Given the description of an element on the screen output the (x, y) to click on. 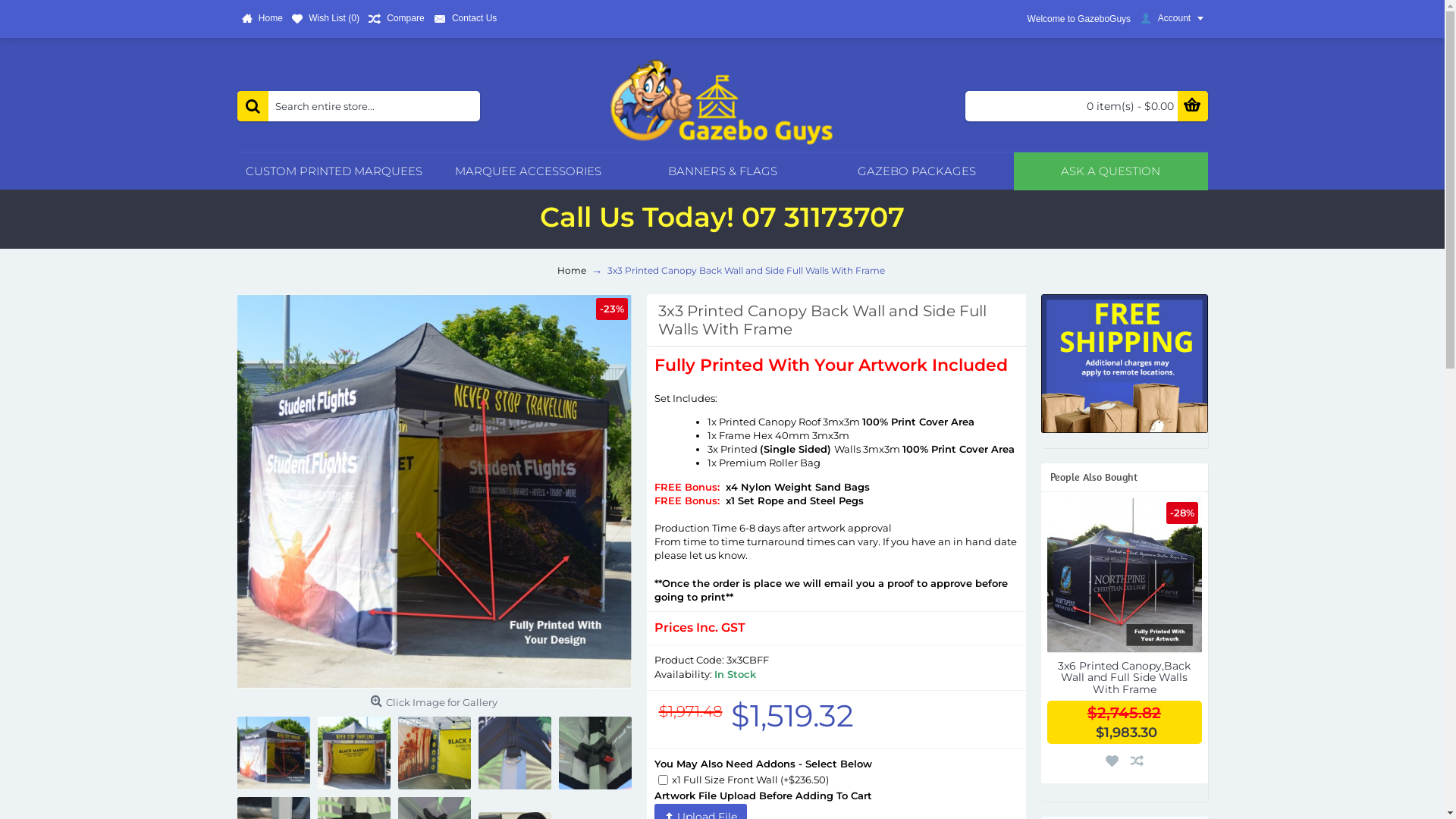
Home Element type: text (570, 270)
People Also Bought Element type: text (1123, 477)
ASK A QUESTION Element type: text (1110, 171)
Wish List (0) Element type: text (325, 18)
3x3 Printed Canopy Back Wall and Side Full Walls With Frame Element type: text (745, 270)
Home Element type: text (261, 18)
MARQUEE ACCESSORIES Element type: text (527, 171)
Gazebo Guys Element type: hover (722, 101)
0 item(s) - $0.00 Element type: text (1085, 106)
3x6 Printed Canopy,Back Wall and Full Side Walls With Frame Element type: hover (1123, 575)
CUSTOM PRINTED MARQUEES Element type: text (333, 171)
GAZEBO PACKAGES Element type: text (916, 171)
3x6 Printed Canopy,Back Wall and Full Side Walls With Frame Element type: text (1123, 676)
Compare Element type: text (396, 18)
Account Element type: text (1171, 18)
BANNERS & FLAGS Element type: text (721, 171)
Contact Us Element type: text (465, 18)
